Given the description of an element on the screen output the (x, y) to click on. 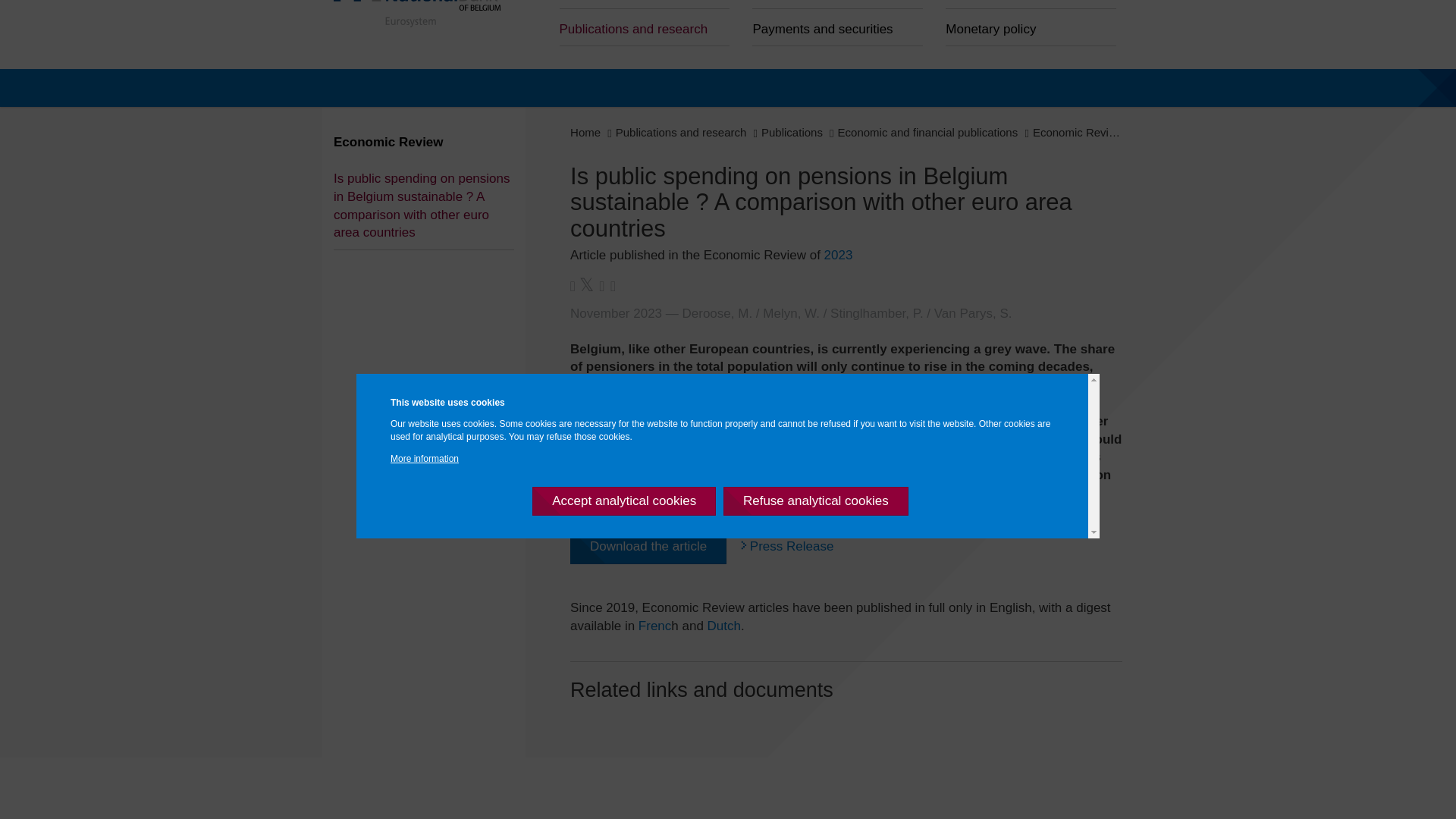
Share this page via twitter (580, 285)
Payments and securities (831, 27)
Central Balance Sheet Office (638, 4)
Statistics (1025, 4)
Publications and research (675, 132)
Deroose, M. (711, 313)
Home (579, 132)
Stinglhamber, P. (871, 313)
Economic Review (382, 142)
Publications and research (638, 27)
Central Credit Registers (831, 4)
Economic Review (1071, 132)
Download the article (642, 546)
Publications (785, 132)
